Given the description of an element on the screen output the (x, y) to click on. 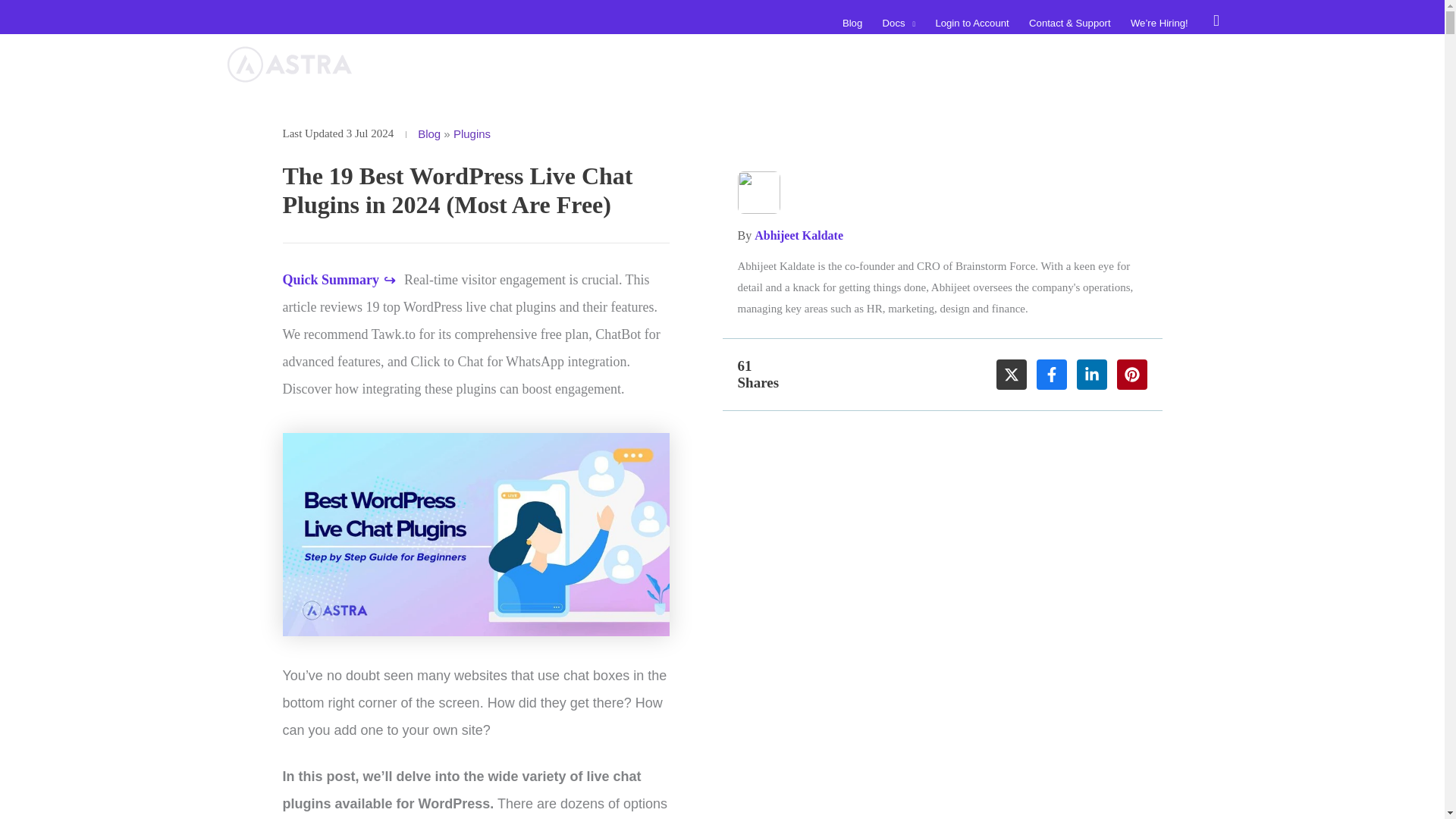
DOWNLOAD (1160, 64)
Blog (429, 133)
Testimonials (987, 63)
Docs (898, 22)
Login to Account (971, 22)
WooCommerce (893, 63)
Starter Templates (679, 63)
Plugins (471, 133)
Blog (852, 22)
Pricing (1058, 63)
